Given the description of an element on the screen output the (x, y) to click on. 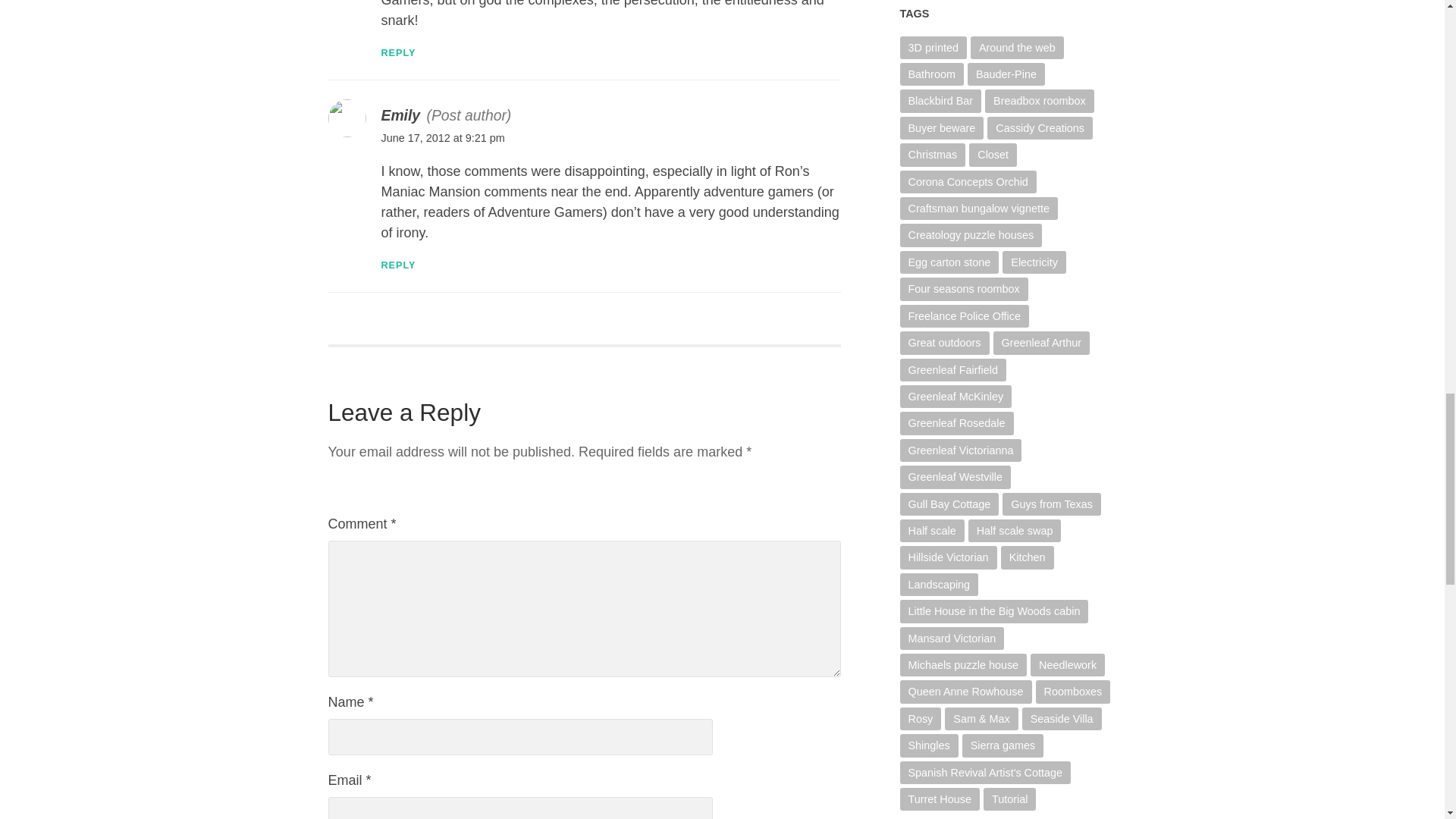
REPLY (397, 52)
REPLY (397, 265)
Emily (400, 115)
June 17, 2012 at 9:21 pm (441, 137)
